Given the description of an element on the screen output the (x, y) to click on. 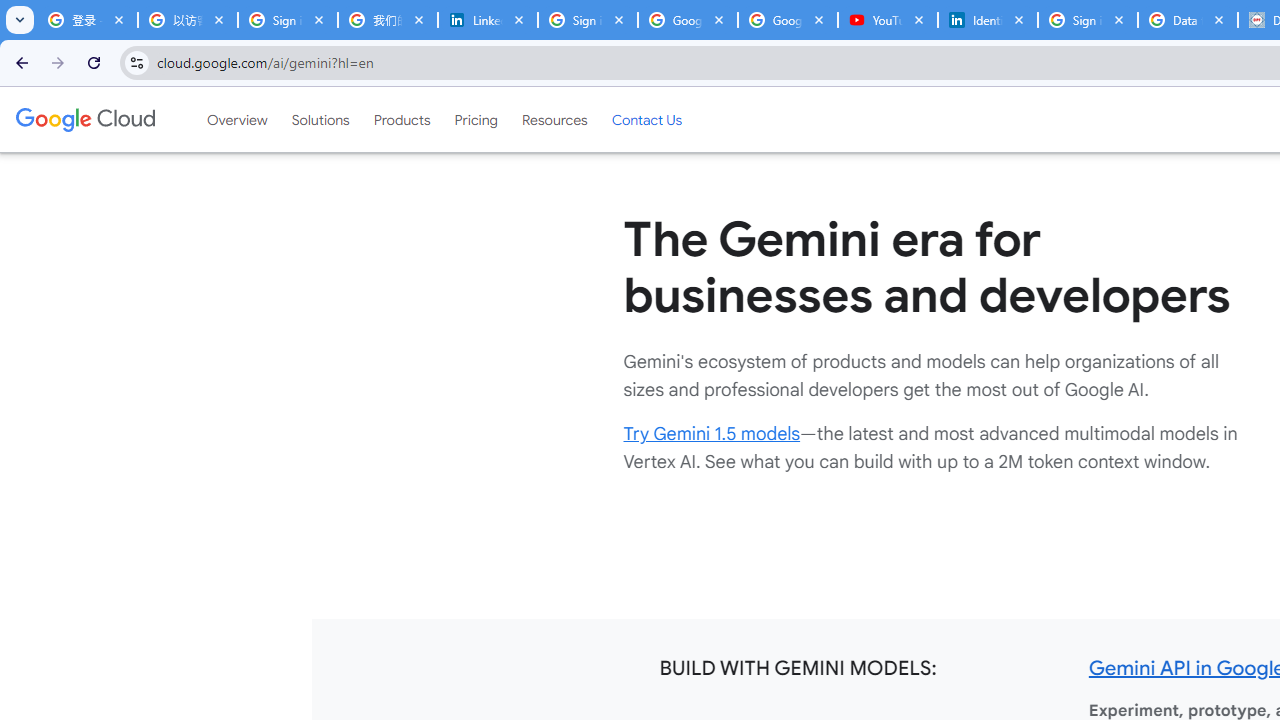
Sign in - Google Accounts (1087, 20)
Products (401, 119)
LinkedIn Privacy Policy (487, 20)
Sign in - Google Accounts (587, 20)
Google Cloud (84, 119)
